Given the description of an element on the screen output the (x, y) to click on. 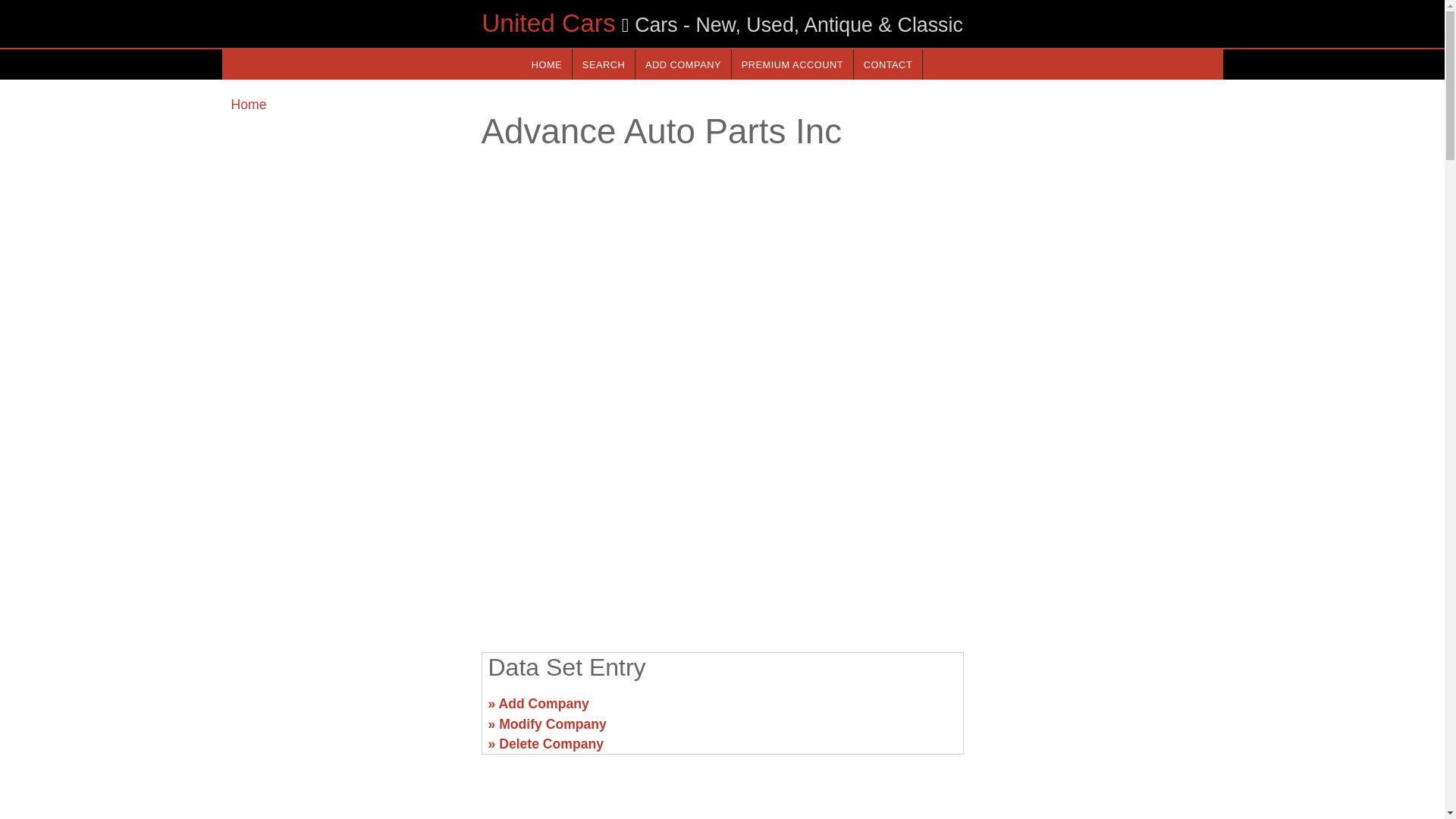
United Cars (547, 22)
Add a new company (682, 64)
Advertisement (346, 710)
HOME (546, 64)
Premium account (792, 64)
SEARCH (603, 64)
Advertisement (721, 522)
Advertisement (1096, 710)
CONTACT (887, 64)
ADD COMPANY (682, 64)
Home (248, 104)
Search in this webseite. (603, 64)
PREMIUM ACCOUNT (792, 64)
